Given the description of an element on the screen output the (x, y) to click on. 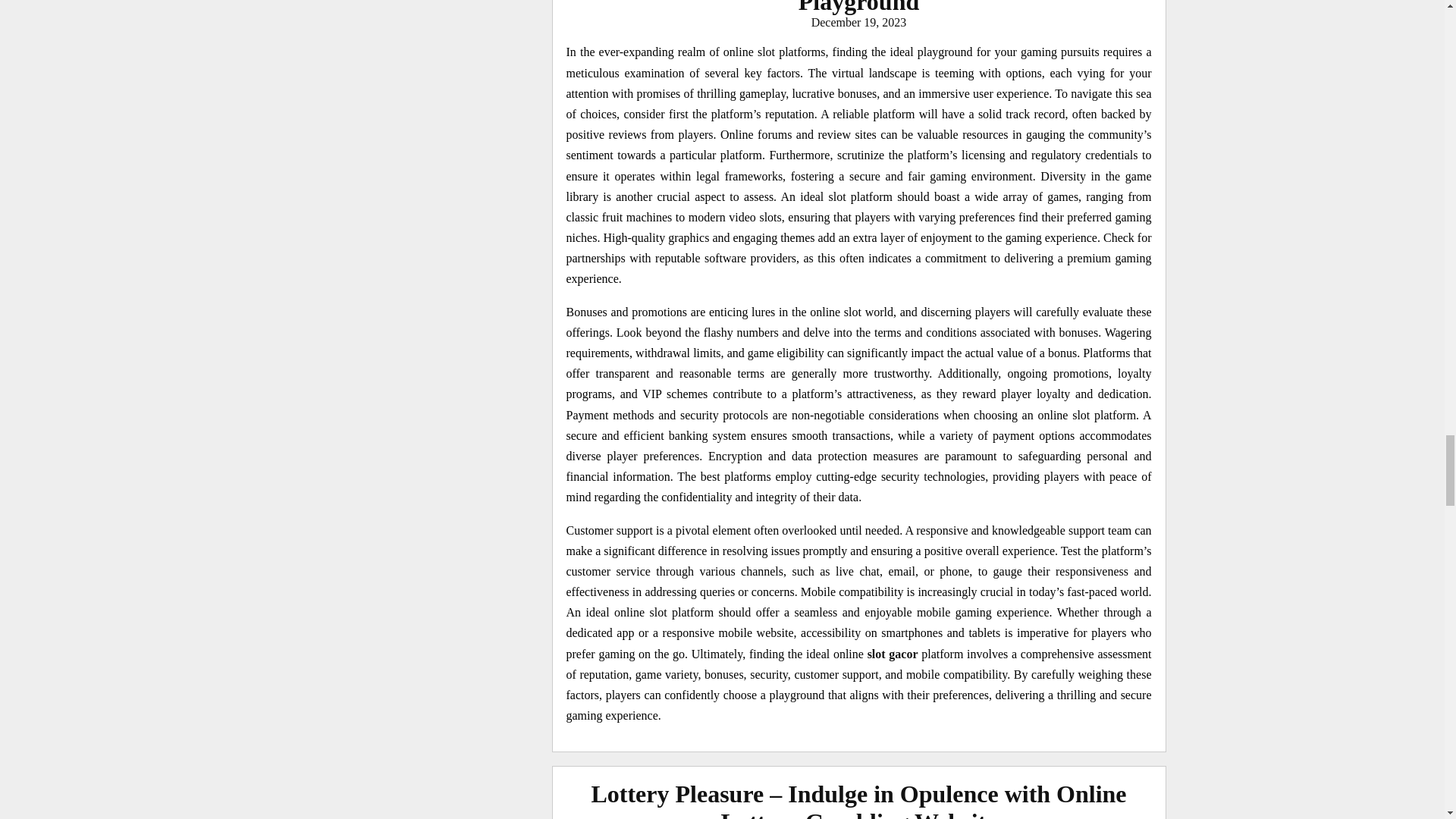
slot gacor (892, 653)
December 19, 2023 (858, 21)
